Given the description of an element on the screen output the (x, y) to click on. 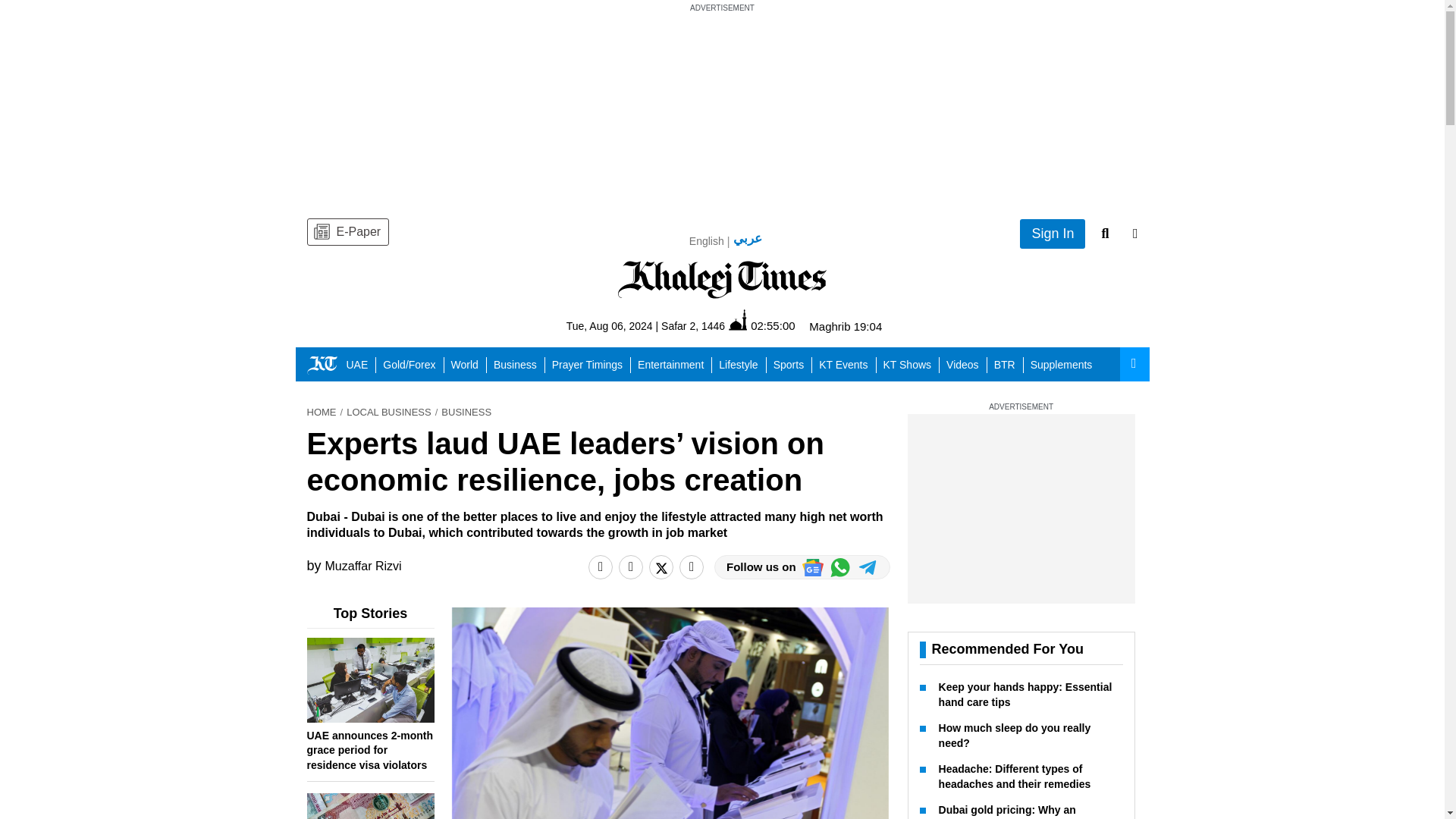
Maghrib 19:04 (845, 326)
E-Paper (346, 231)
02:55:00 (761, 324)
Sign In (1052, 233)
